Given the description of an element on the screen output the (x, y) to click on. 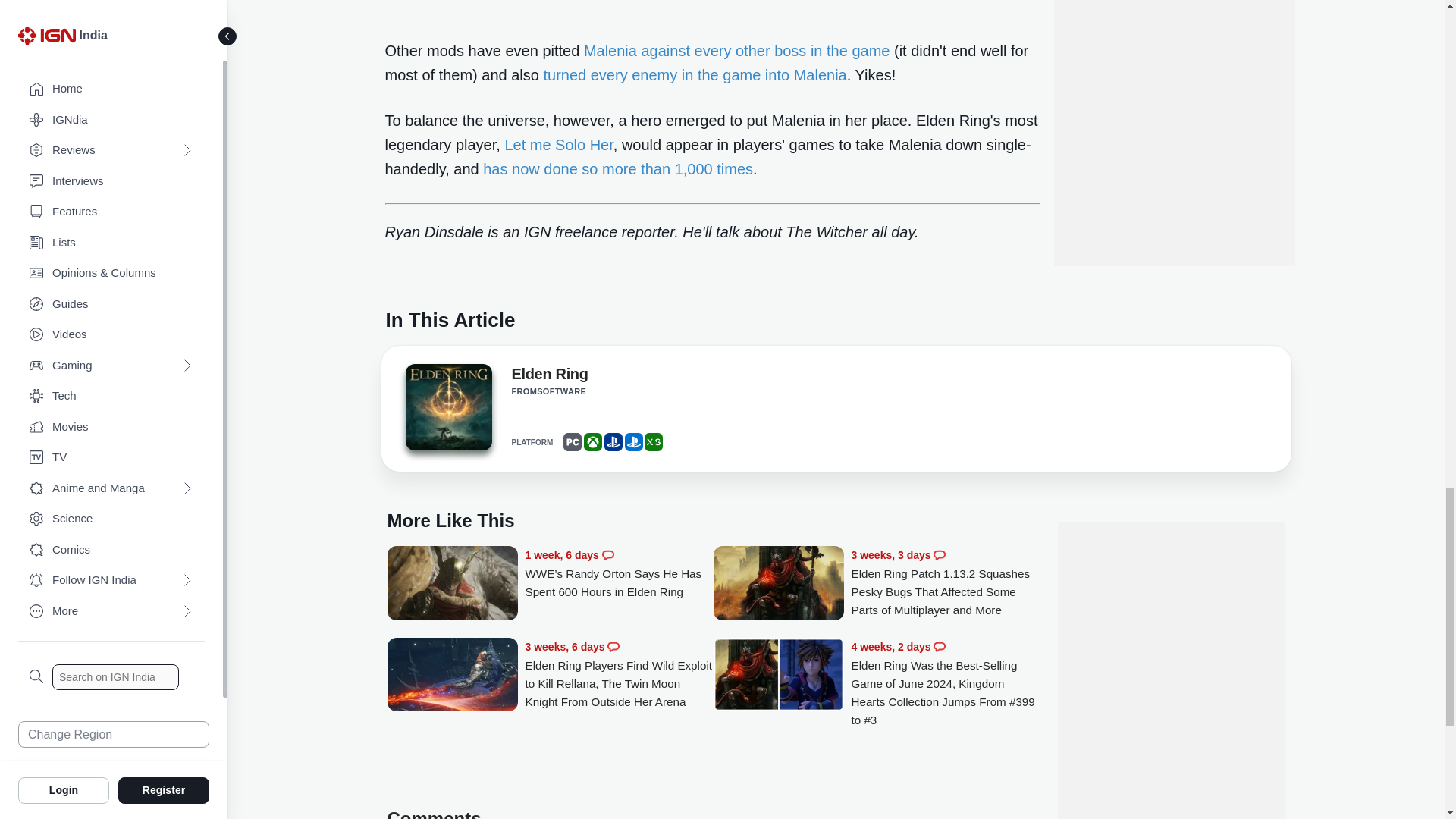
Elden Ring (549, 376)
Elden Ring (448, 406)
Elden Ring (448, 411)
